Given the description of an element on the screen output the (x, y) to click on. 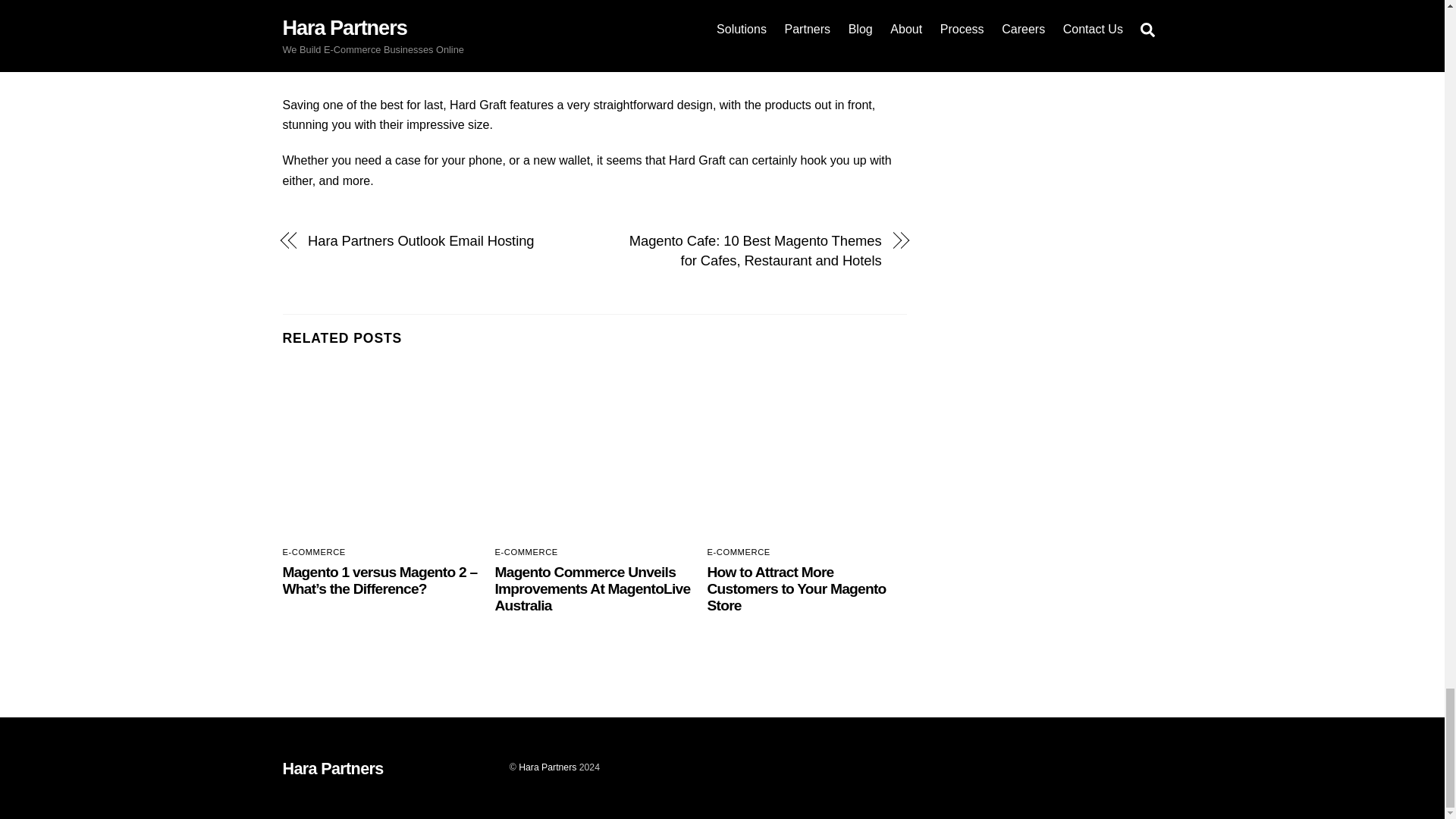
Things to Focus On Before Hiring Magento Developers (595, 453)
E-COMMERCE (526, 551)
Things to Focus On Before Hiring Magento Developers (807, 453)
E-COMMERCE (313, 551)
Hara Partners (332, 768)
Hara Partners Outlook Email Hosting (441, 240)
